Given the description of an element on the screen output the (x, y) to click on. 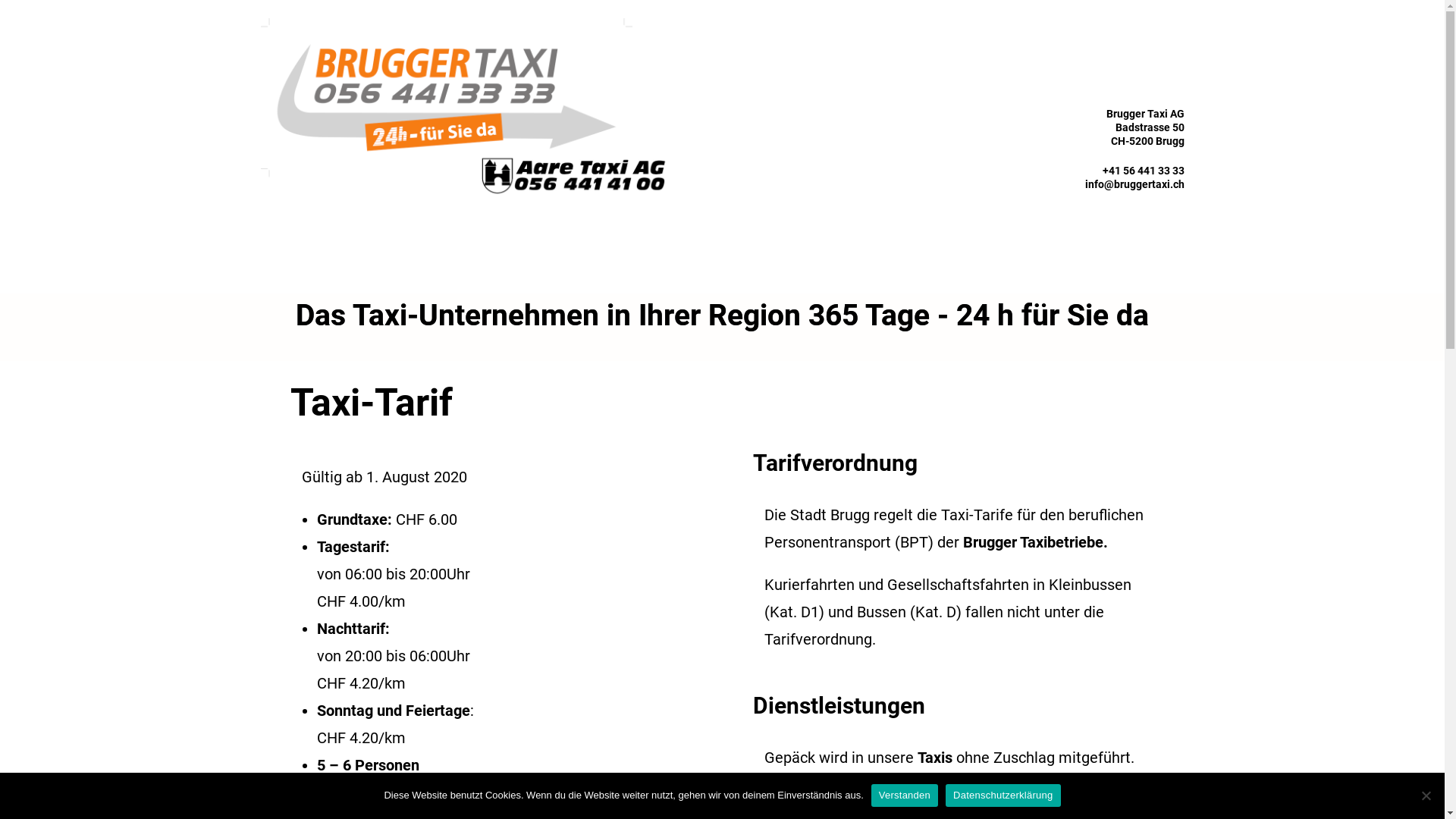
Brugger Taxi AG Element type: hover (463, 110)
Verstanden Element type: text (904, 795)
info@bruggertaxi.ch Element type: text (1134, 184)
